Given the description of an element on the screen output the (x, y) to click on. 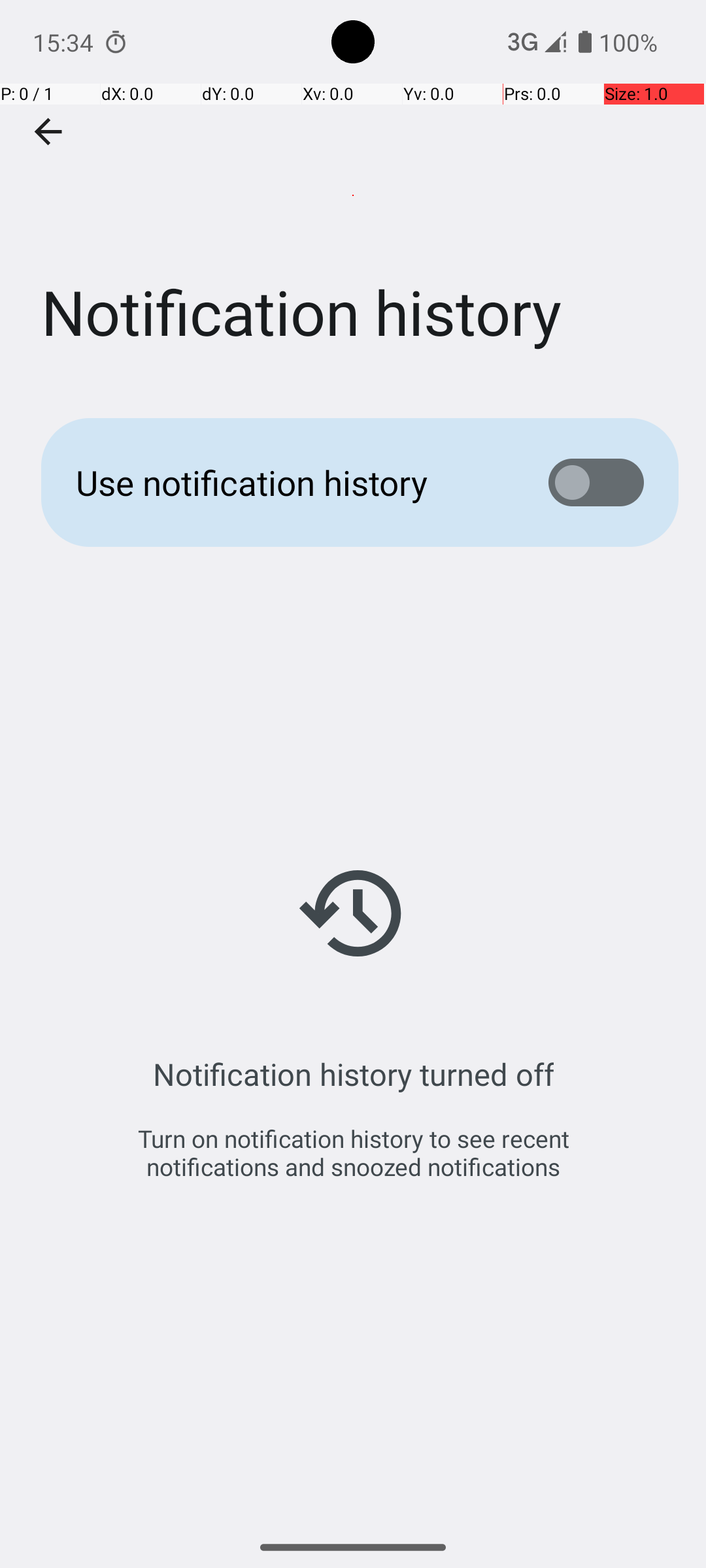
Notification history turned off Element type: android.widget.TextView (352, 1073)
Turn on notification history to see recent notifications and snoozed notifications Element type: android.widget.TextView (352, 1152)
Use notification history Element type: android.widget.TextView (291, 482)
